Given the description of an element on the screen output the (x, y) to click on. 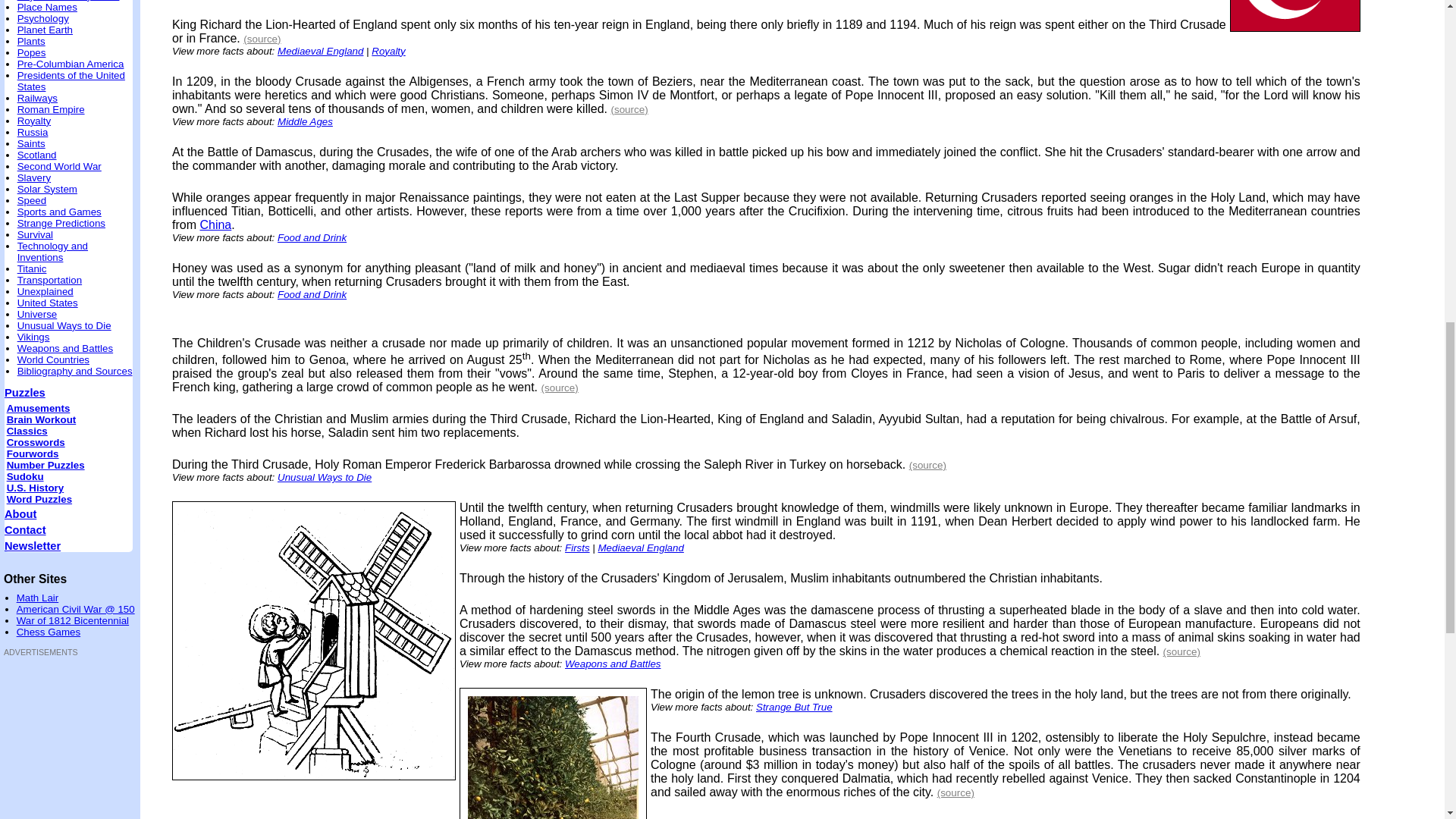
Medieval illustration of a windmill (313, 644)
